Given the description of an element on the screen output the (x, y) to click on. 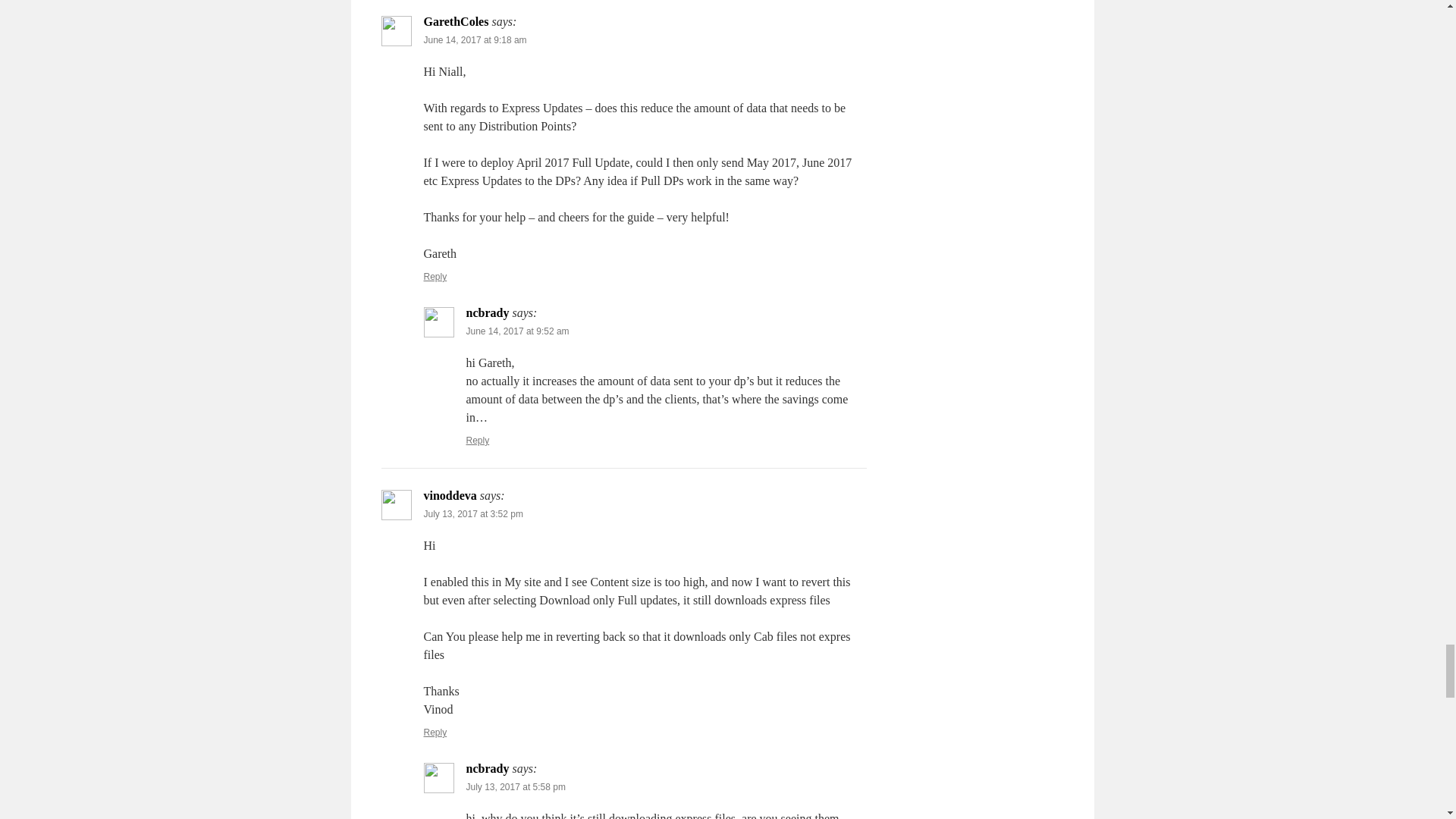
June 14, 2017 at 9:18 am (474, 40)
